Given the description of an element on the screen output the (x, y) to click on. 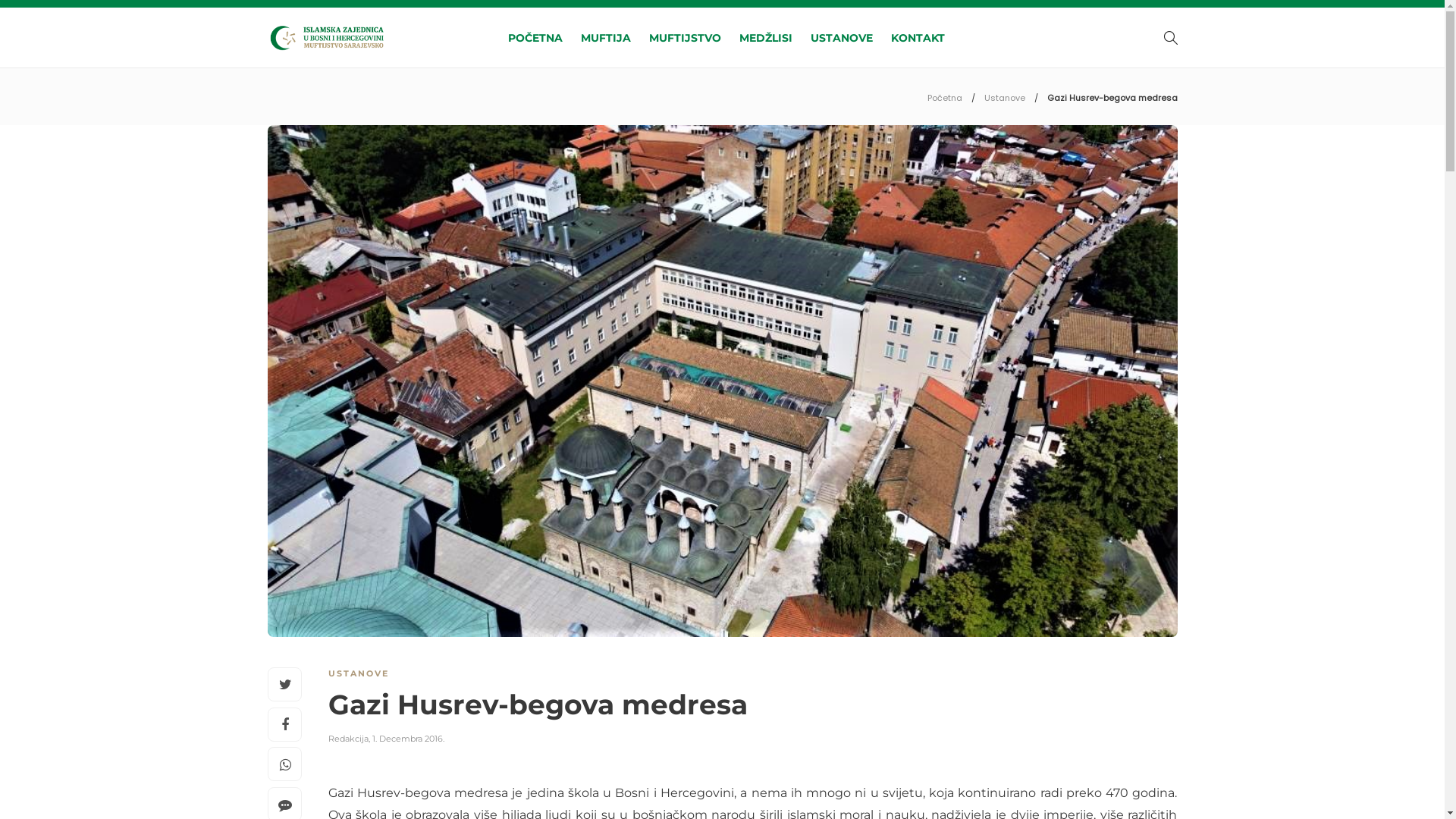
KONTAKT Element type: text (917, 37)
MUFTIJA Element type: text (605, 37)
Gazi Husrev-begova medresa Element type: text (740, 708)
Redakcija Element type: text (347, 738)
MUFTIJSTVO Element type: text (685, 37)
1. Decembra 2016. Element type: text (407, 738)
USTANOVE Element type: text (357, 673)
USTANOVE Element type: text (841, 37)
Ustanove Element type: text (1004, 97)
